Given the description of an element on the screen output the (x, y) to click on. 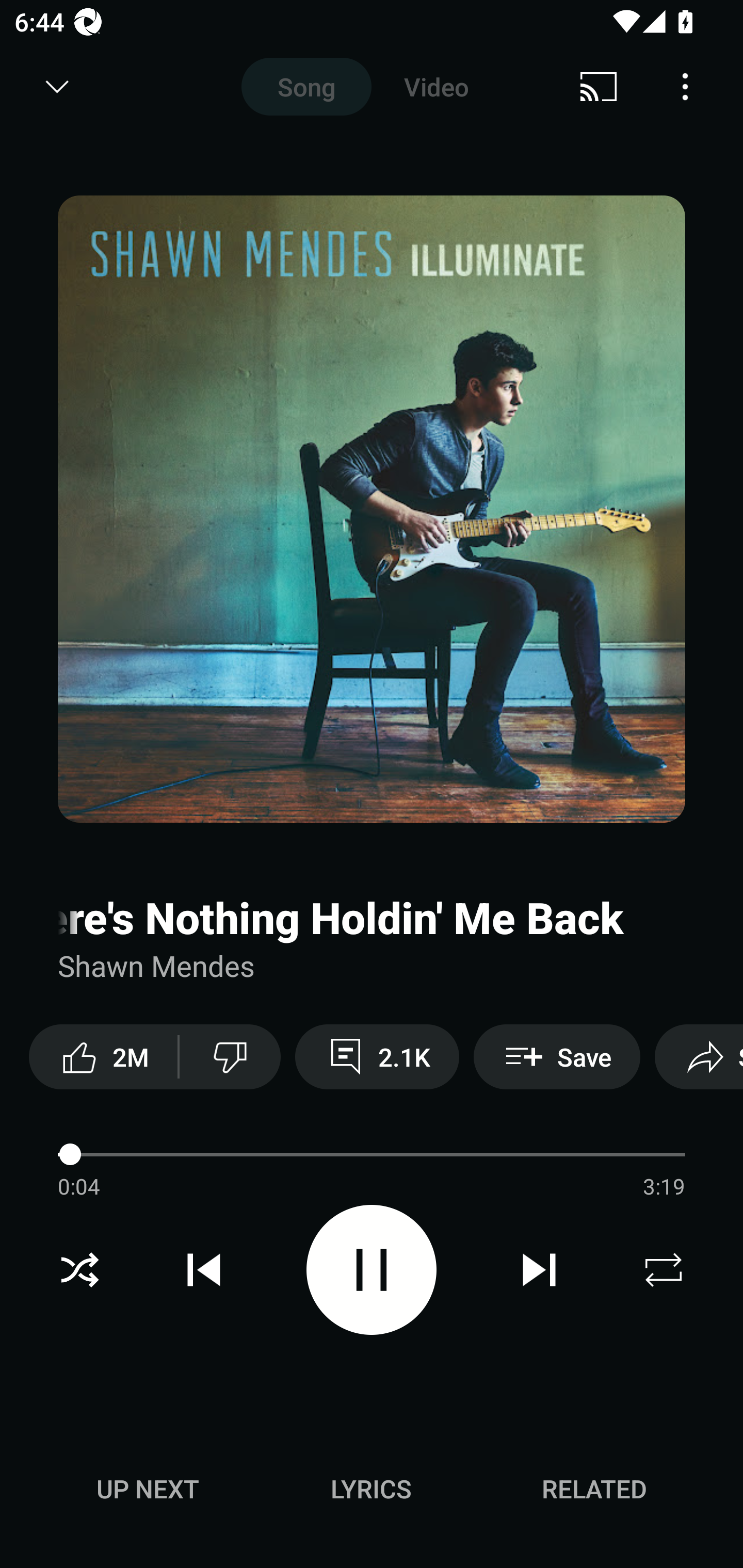
Minimize (57, 86)
Cast. Disconnected (598, 86)
Menu (684, 86)
Dislike (229, 1056)
2.1K View 2,168 comments (376, 1056)
Save Save to playlist (557, 1056)
Share (698, 1056)
Pause video (371, 1269)
Shuffle on (79, 1269)
Previous track (203, 1269)
Next track (538, 1269)
Repeat off (663, 1269)
Up next UP NEXT Lyrics LYRICS Related RELATED (371, 1491)
Lyrics LYRICS (370, 1488)
Related RELATED (594, 1488)
